Given the description of an element on the screen output the (x, y) to click on. 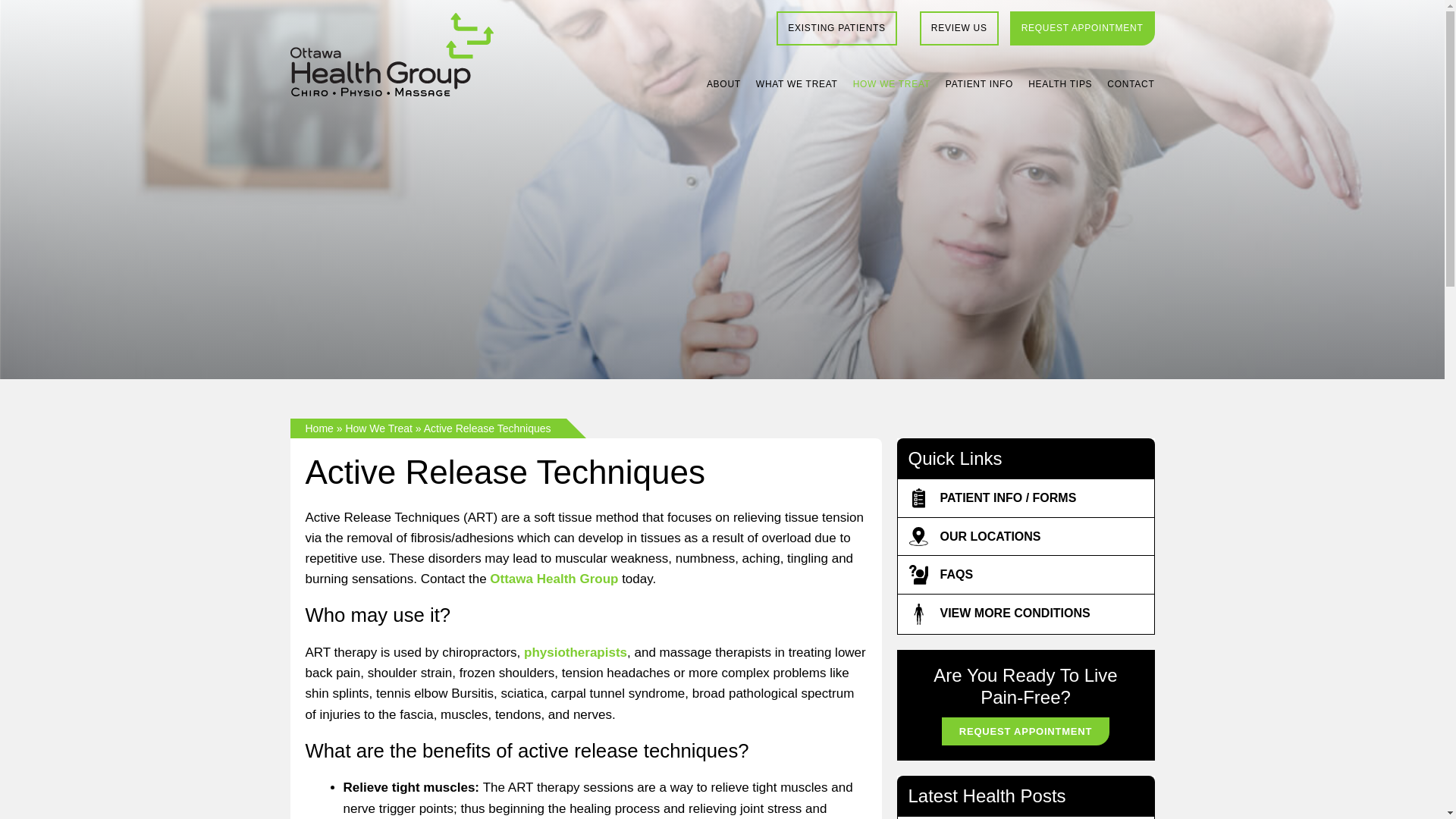
About (723, 83)
Contact (1130, 83)
Patient Info (978, 83)
What We Treat (796, 83)
How We Treat (891, 83)
Request Appointment (1082, 28)
Review Us (959, 28)
Health Tips (1059, 83)
